Given the description of an element on the screen output the (x, y) to click on. 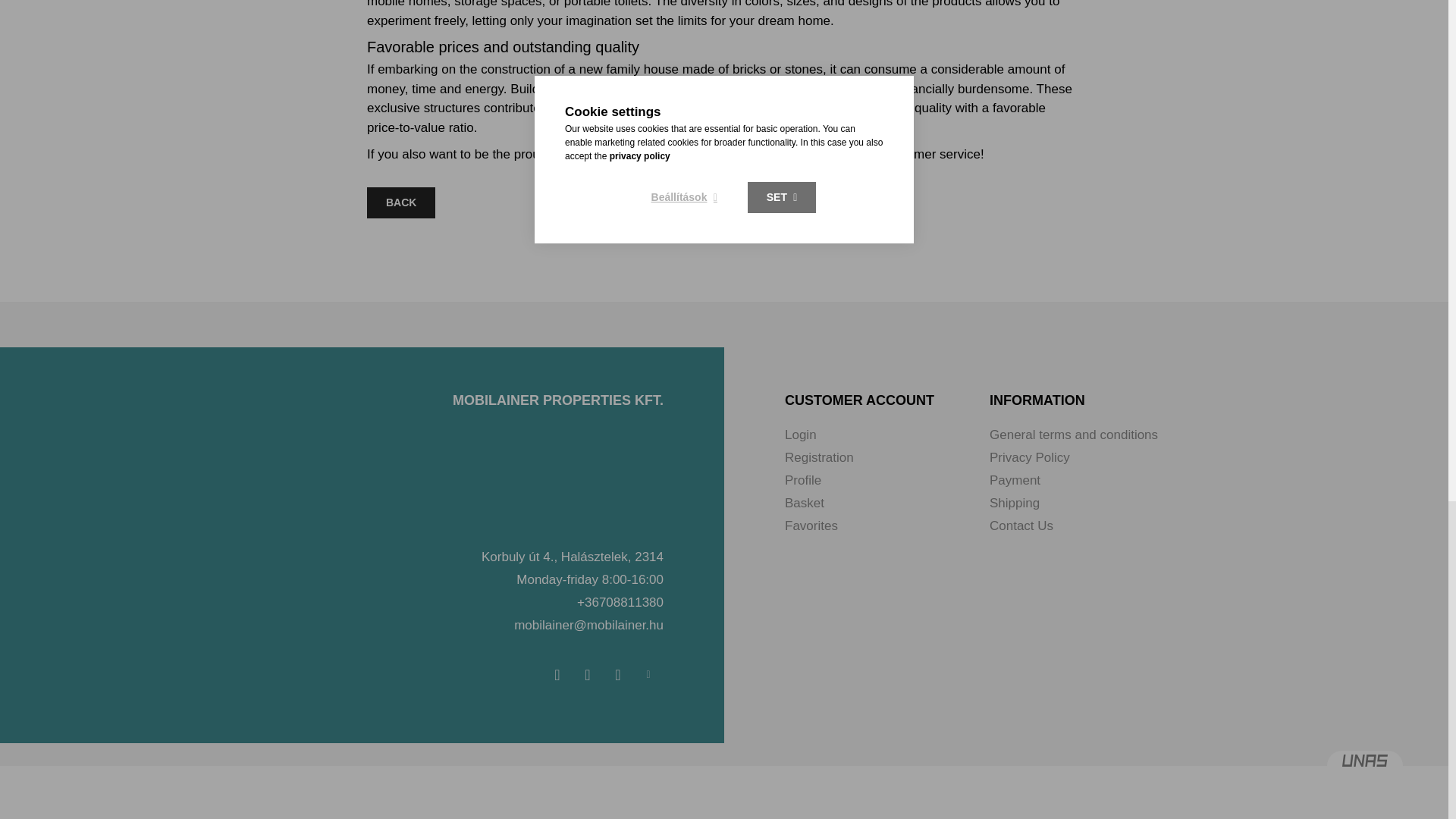
WebShop System (1364, 759)
Cookie settings (648, 675)
WebShop System (1364, 766)
SSL Certificate (723, 792)
